Given the description of an element on the screen output the (x, y) to click on. 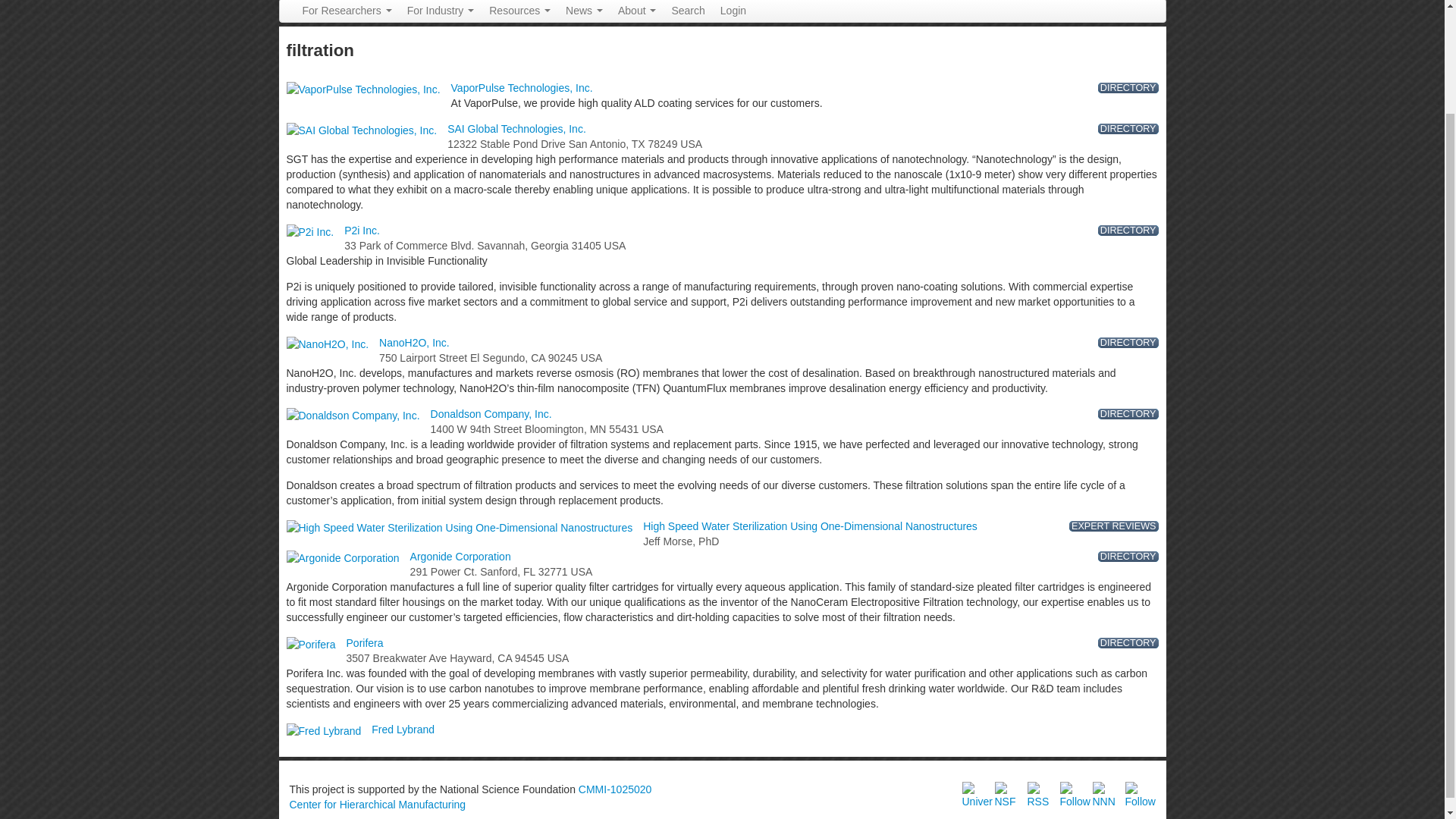
News (583, 11)
Resources (519, 11)
For Researchers (346, 11)
For Industry (439, 11)
